Given the description of an element on the screen output the (x, y) to click on. 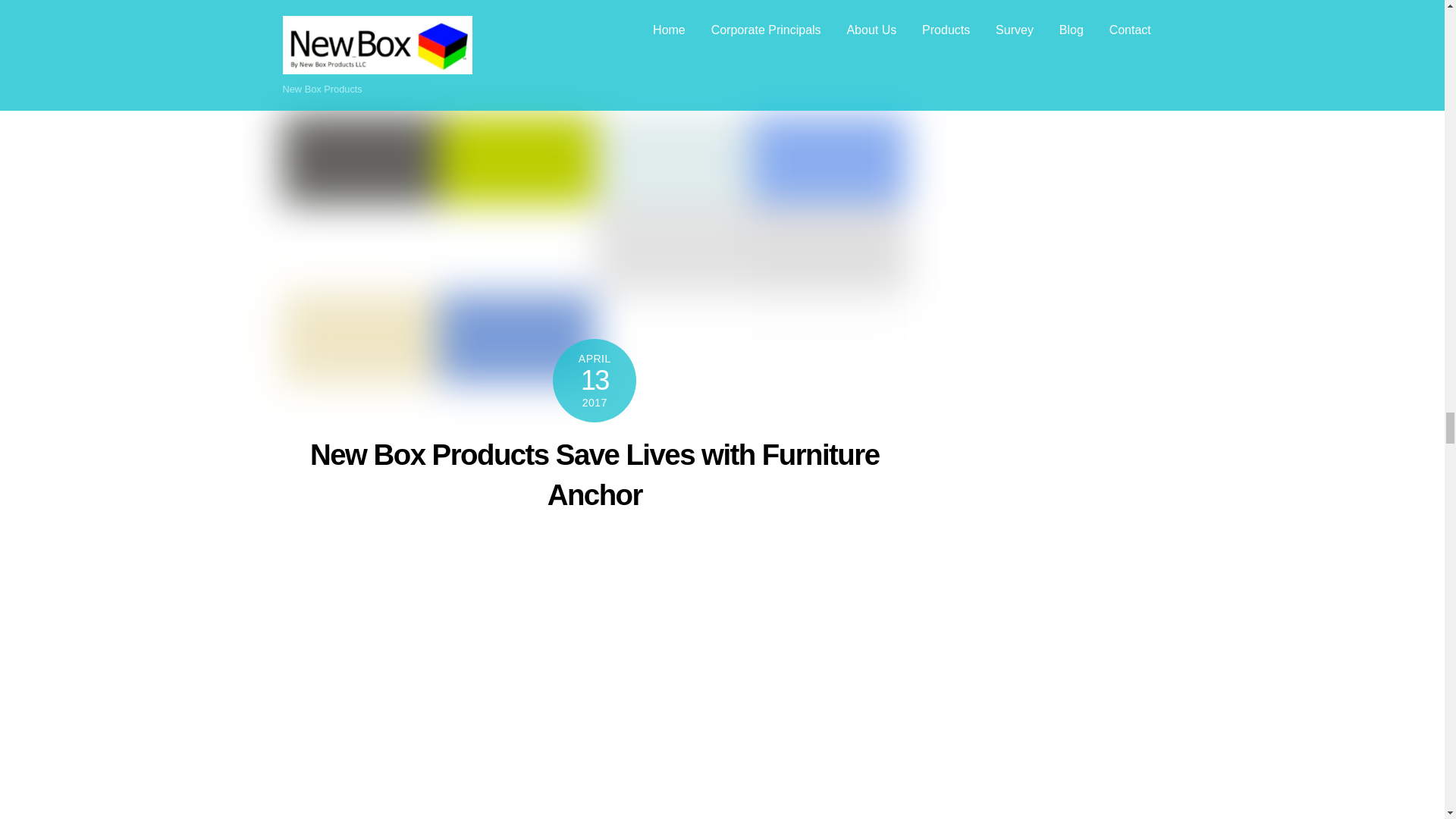
New Box Products Save Lives with Furniture Anchor (594, 474)
